Given the description of an element on the screen output the (x, y) to click on. 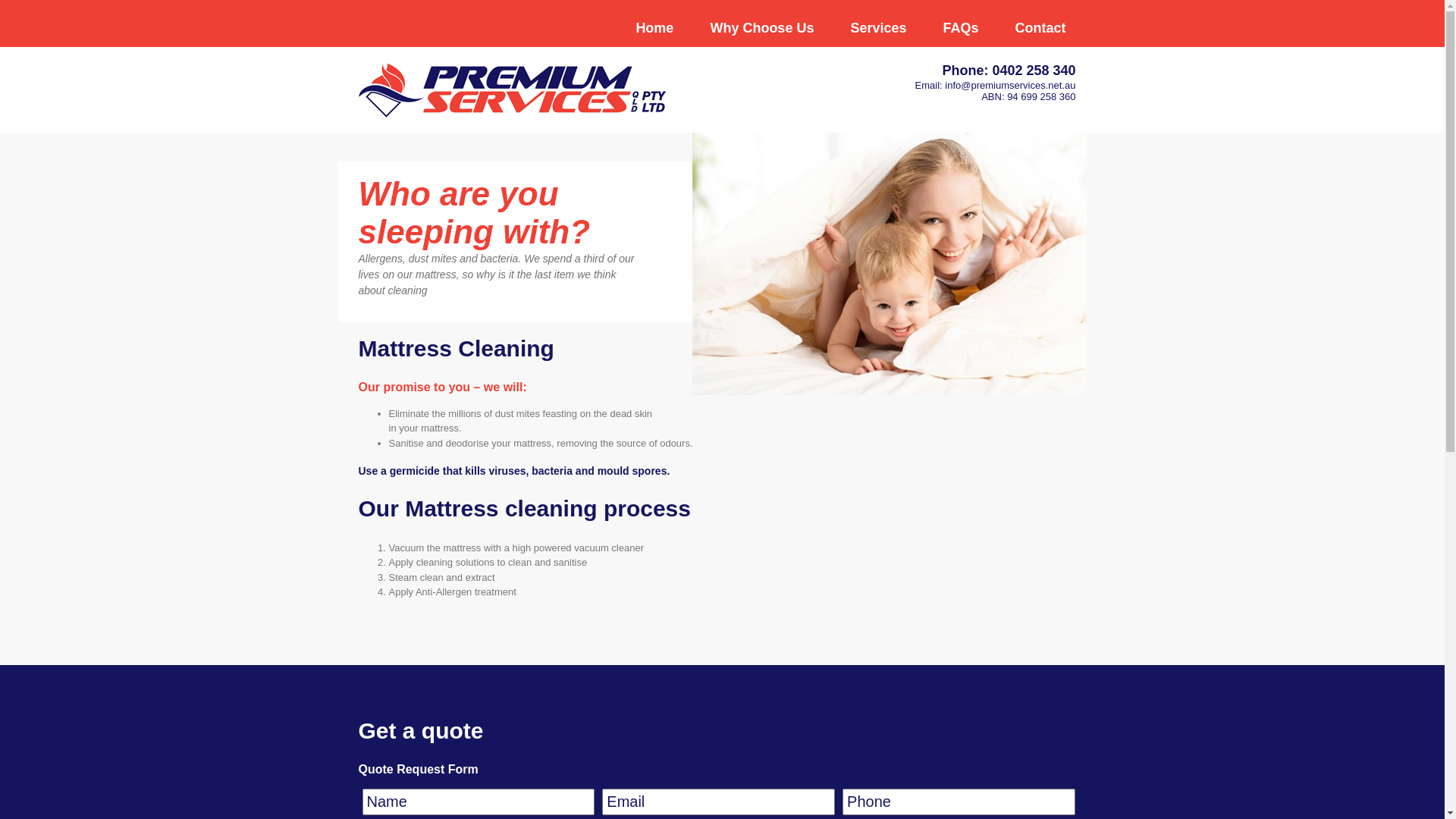
Premium Services Element type: text (511, 89)
Home Element type: text (654, 28)
0402 258 340 Element type: text (1033, 70)
FAQs Element type: text (960, 28)
Why Choose Us Element type: text (761, 28)
Services Element type: text (877, 28)
Contact Element type: text (1040, 28)
